Given the description of an element on the screen output the (x, y) to click on. 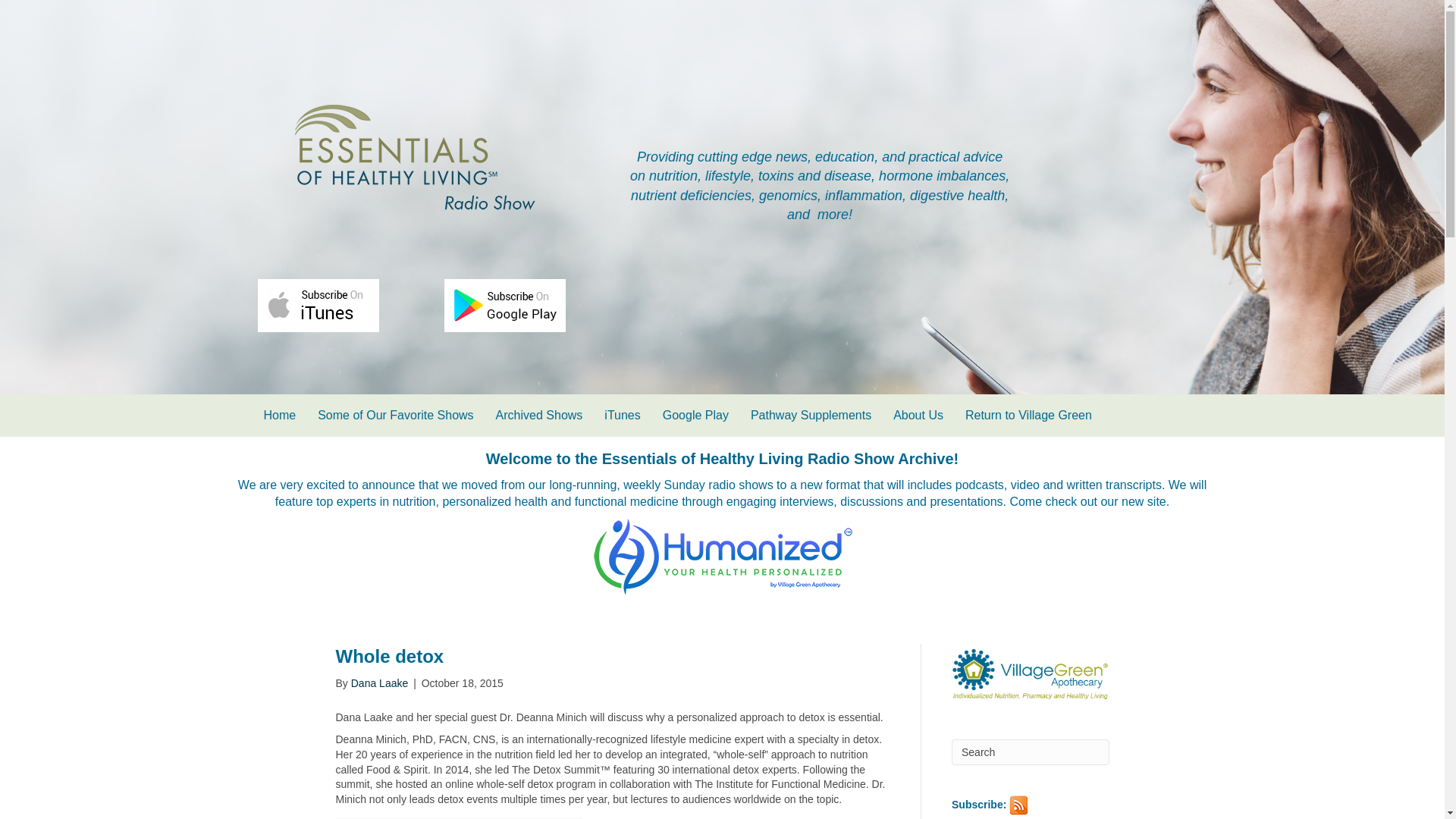
Google Play (695, 415)
iTunes (622, 415)
Type and press Enter to search. (1030, 751)
Archived Shows (539, 415)
Google Play (505, 305)
About Us (917, 415)
Home (280, 415)
Some of Our Favorite Shows (395, 415)
Search (1030, 751)
Return to Village Green (1028, 415)
Essentials of Healthy Living (411, 158)
Search (1030, 751)
Pathway Supplements (810, 415)
iTunes (317, 305)
Dana Laake (379, 683)
